Given the description of an element on the screen output the (x, y) to click on. 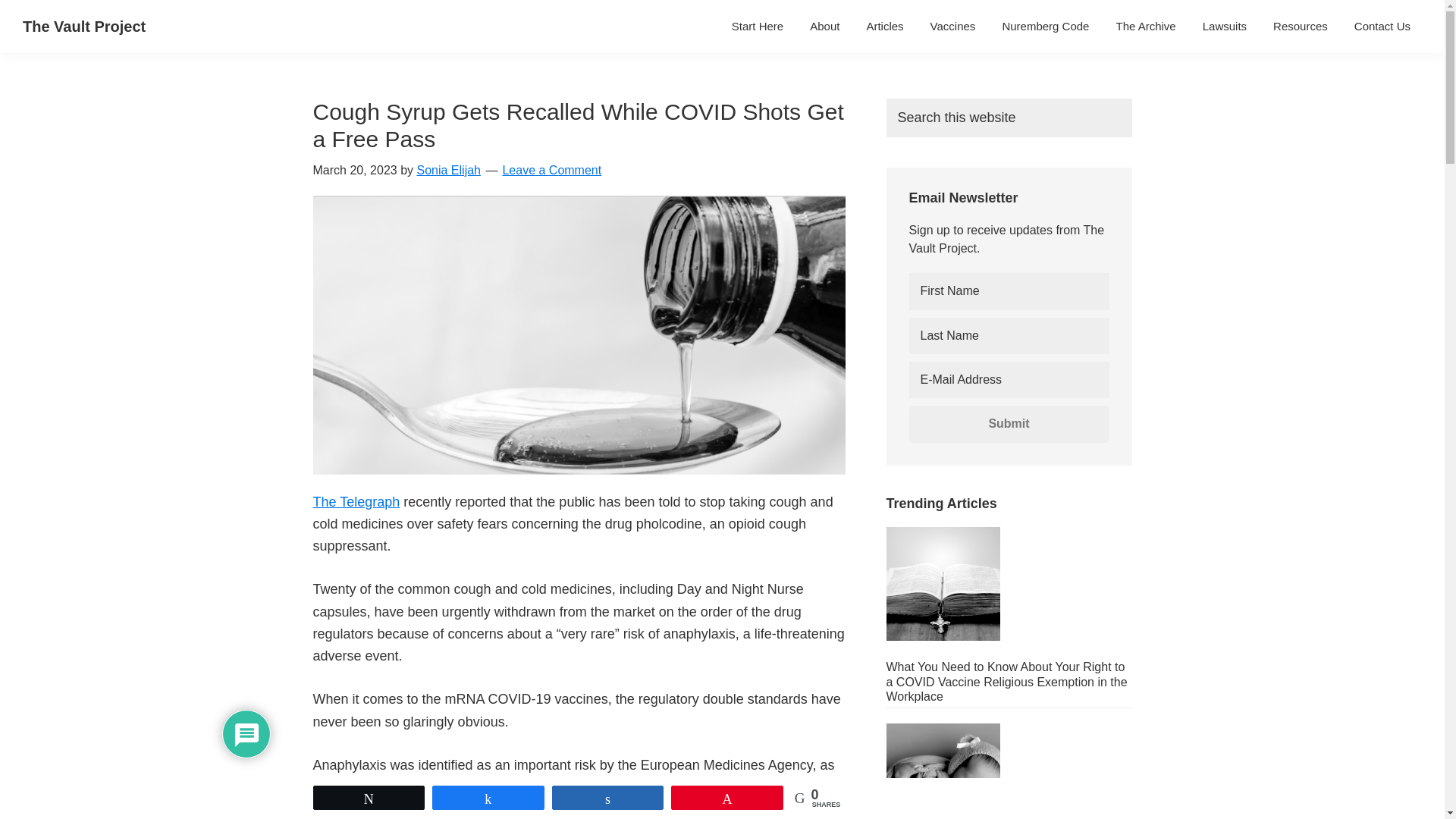
Lawsuits (1224, 25)
Start Here (757, 25)
About (823, 25)
Vaccines (952, 25)
The Archive (1144, 25)
Resources (1300, 25)
The Vault Project (84, 26)
Submit (1008, 423)
